Given the description of an element on the screen output the (x, y) to click on. 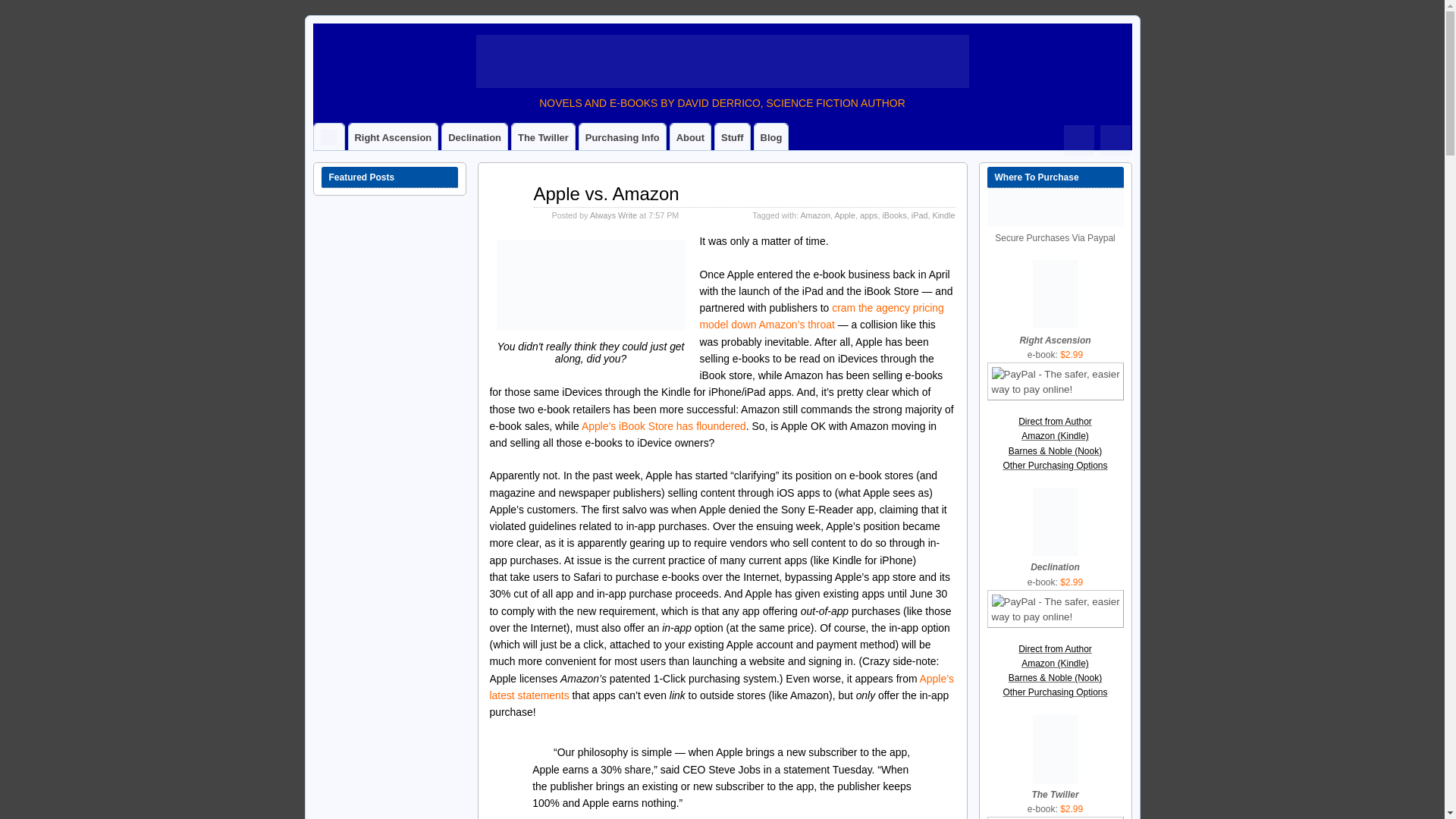
Facebook (1114, 133)
Purchasing Info (622, 136)
Right Ascension (393, 136)
The Twiller (543, 136)
Declination (474, 136)
About (689, 136)
apple-vs-amazon (590, 284)
RSS (1079, 133)
Blog (771, 136)
Apple vs. Amazon (606, 193)
